Given the description of an element on the screen output the (x, y) to click on. 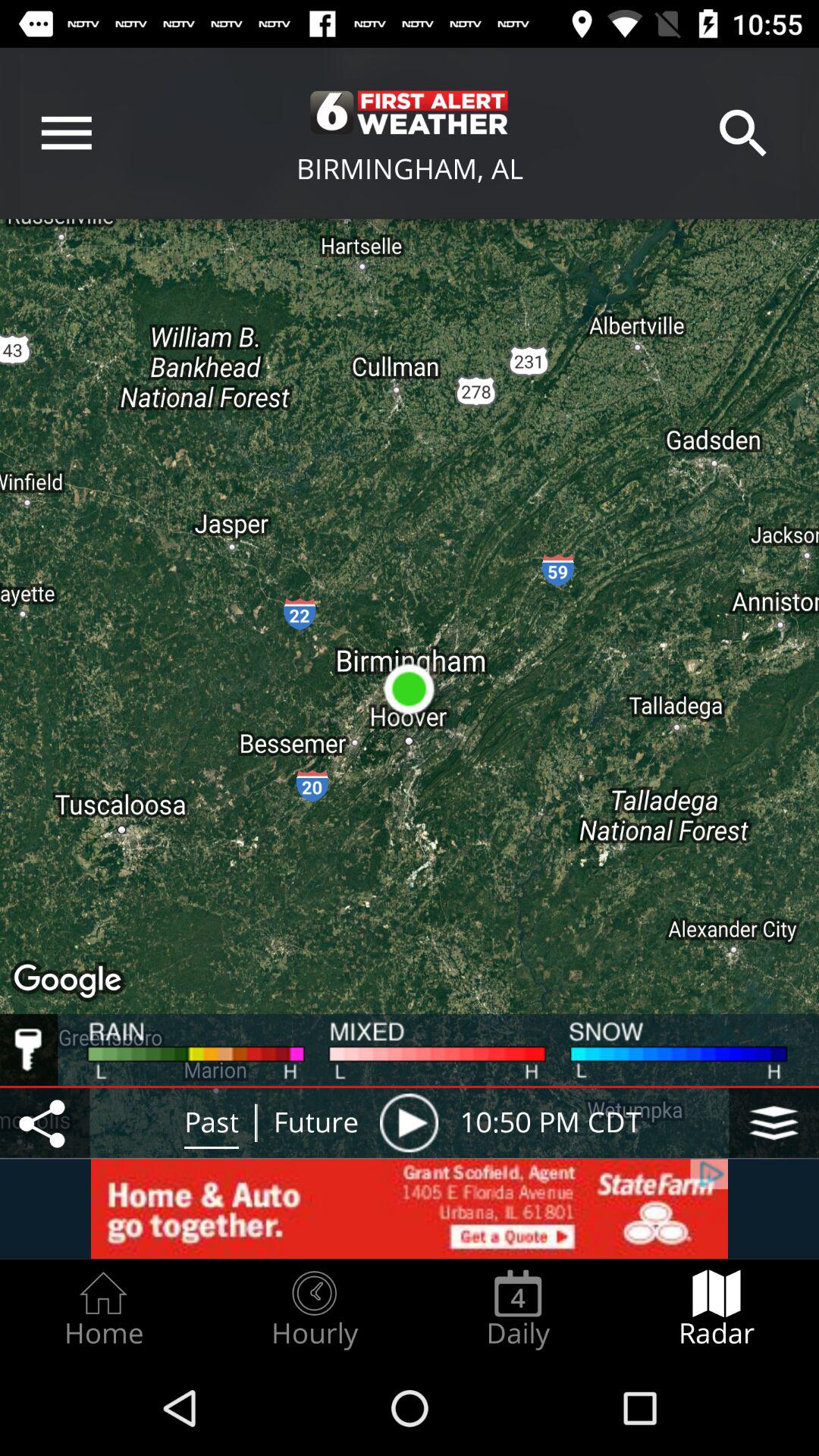
click the item to the left of 10 50 pm item (409, 1122)
